Given the description of an element on the screen output the (x, y) to click on. 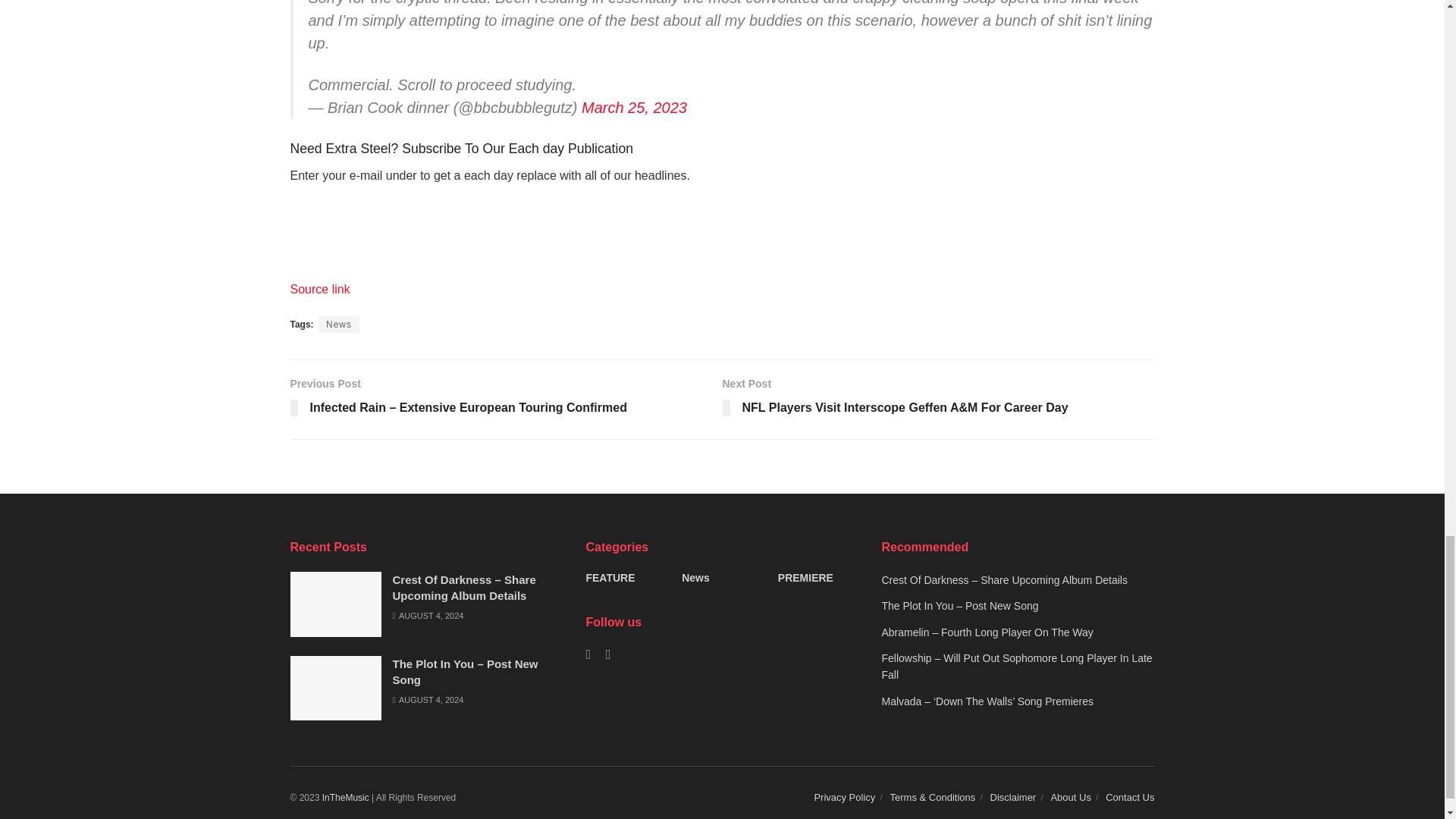
News (338, 324)
March 25, 2023 (633, 107)
Source link (319, 288)
Premium news  (345, 797)
